Given the description of an element on the screen output the (x, y) to click on. 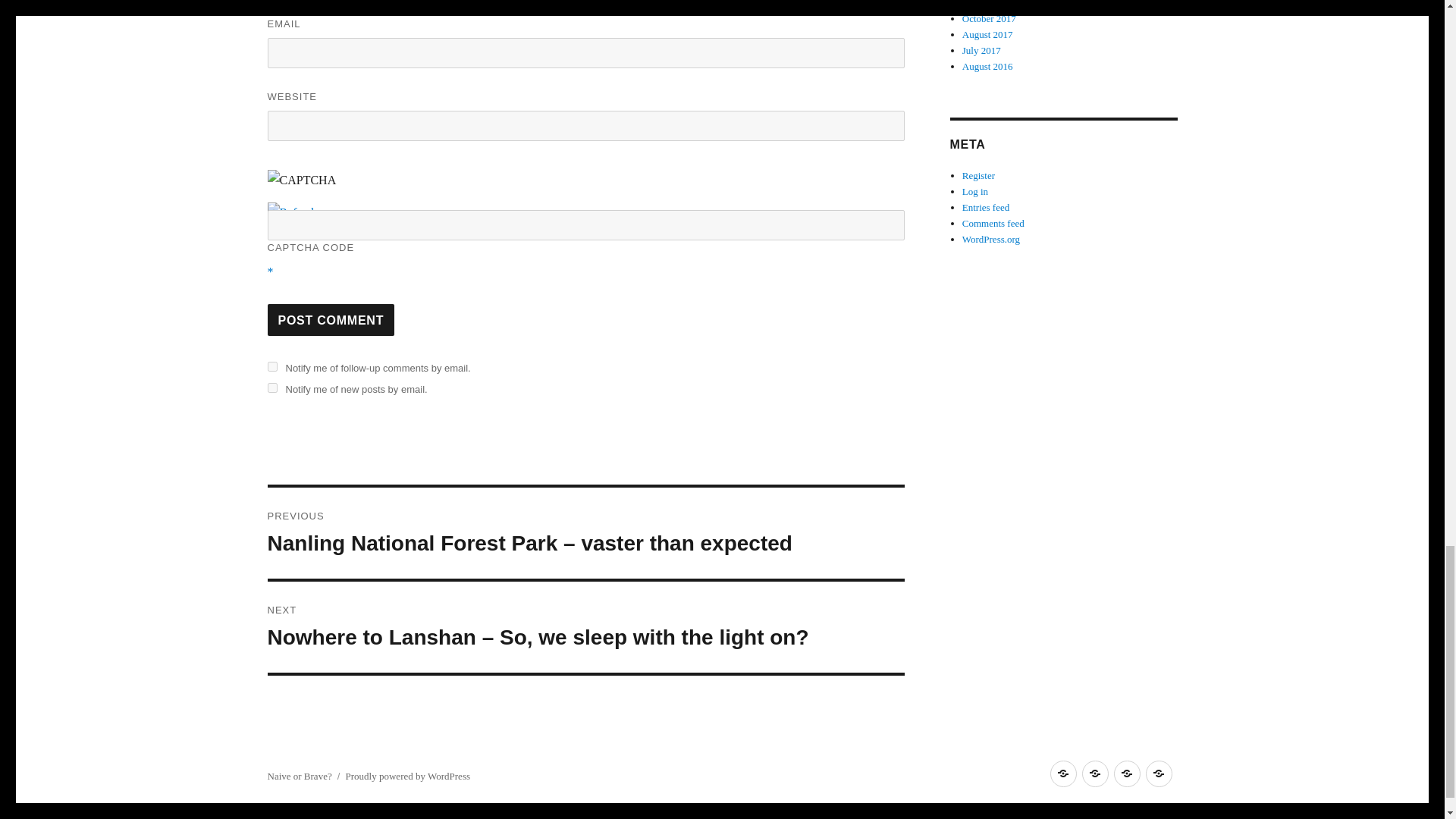
Post Comment (330, 319)
CAPTCHA (316, 185)
Post Comment (330, 319)
Refresh (291, 212)
subscribe (271, 366)
subscribe (271, 388)
